Given the description of an element on the screen output the (x, y) to click on. 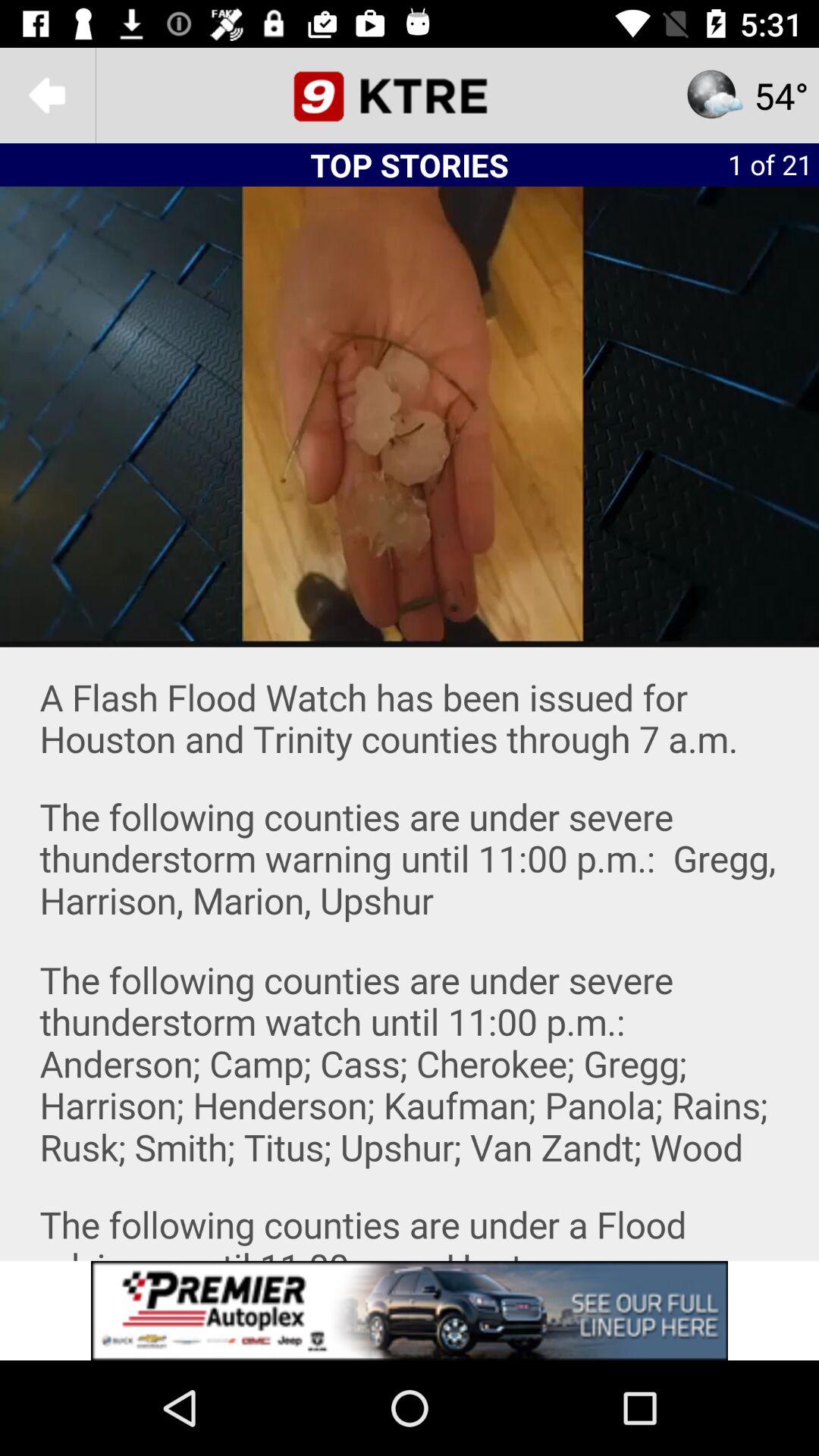
go back (47, 95)
